Given the description of an element on the screen output the (x, y) to click on. 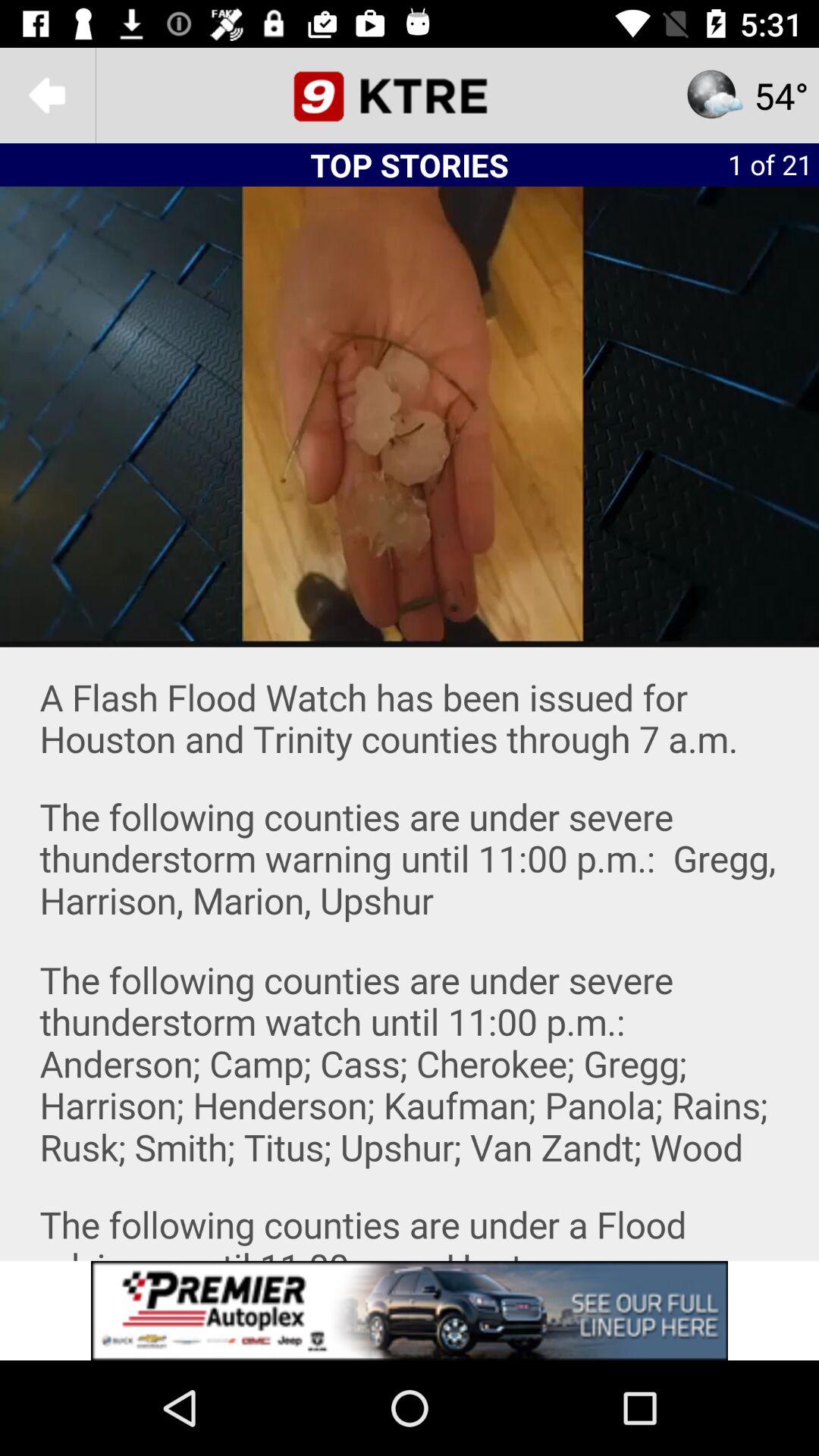
go back (47, 95)
